Given the description of an element on the screen output the (x, y) to click on. 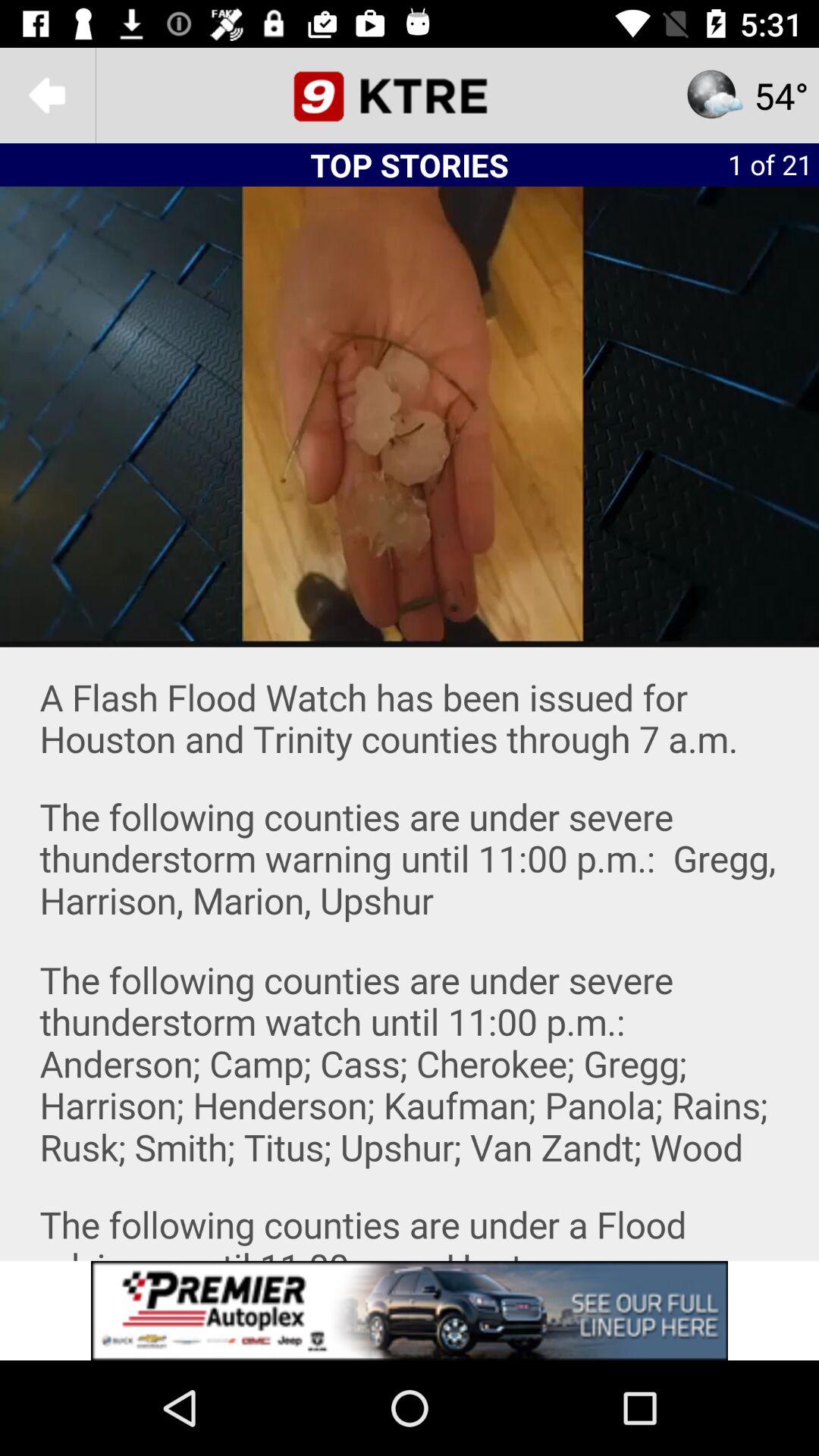
go back (47, 95)
